Given the description of an element on the screen output the (x, y) to click on. 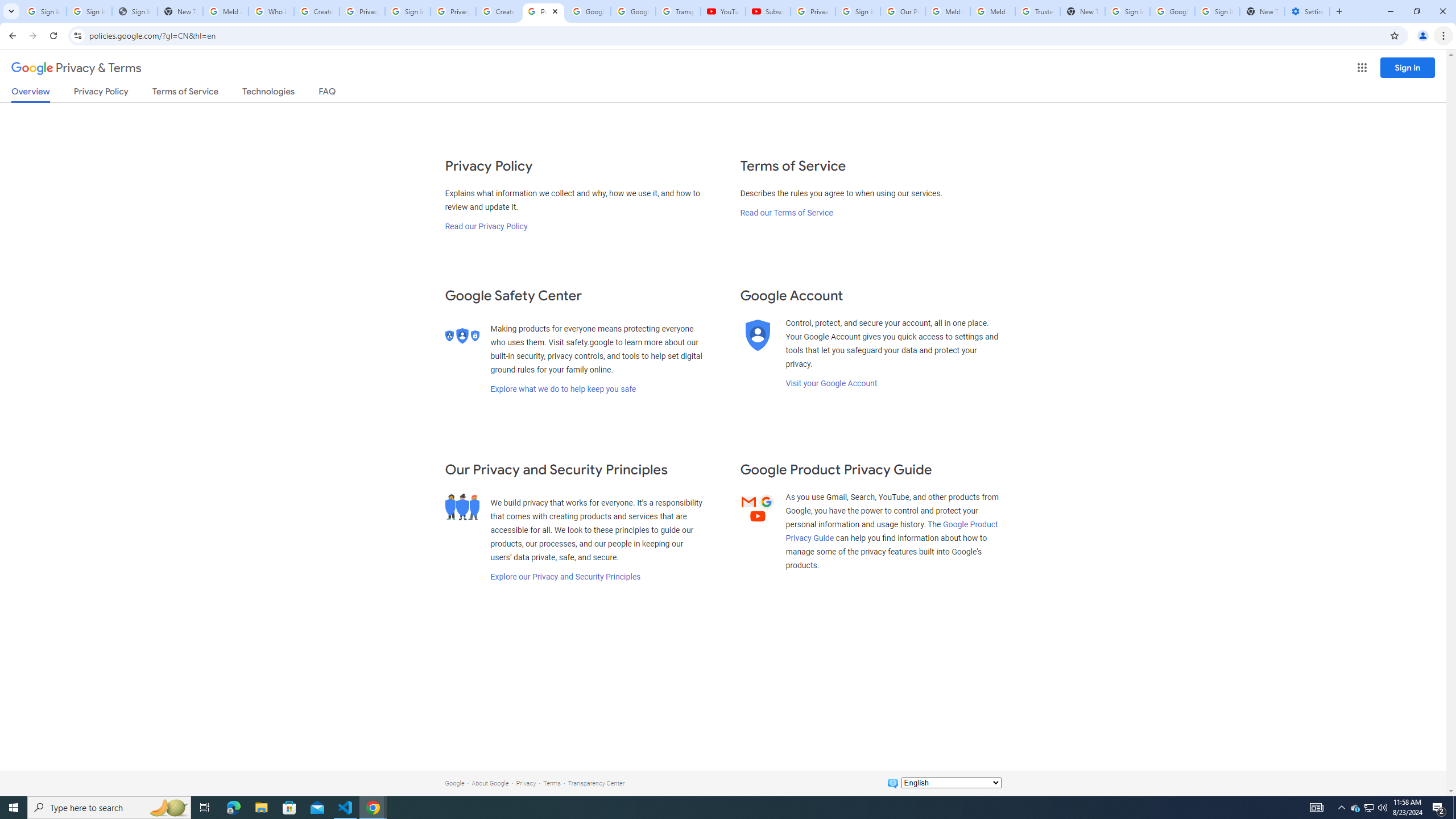
Create your Google Account (497, 11)
Sign In - USA TODAY (134, 11)
New Tab (1262, 11)
About Google (490, 783)
